Given the description of an element on the screen output the (x, y) to click on. 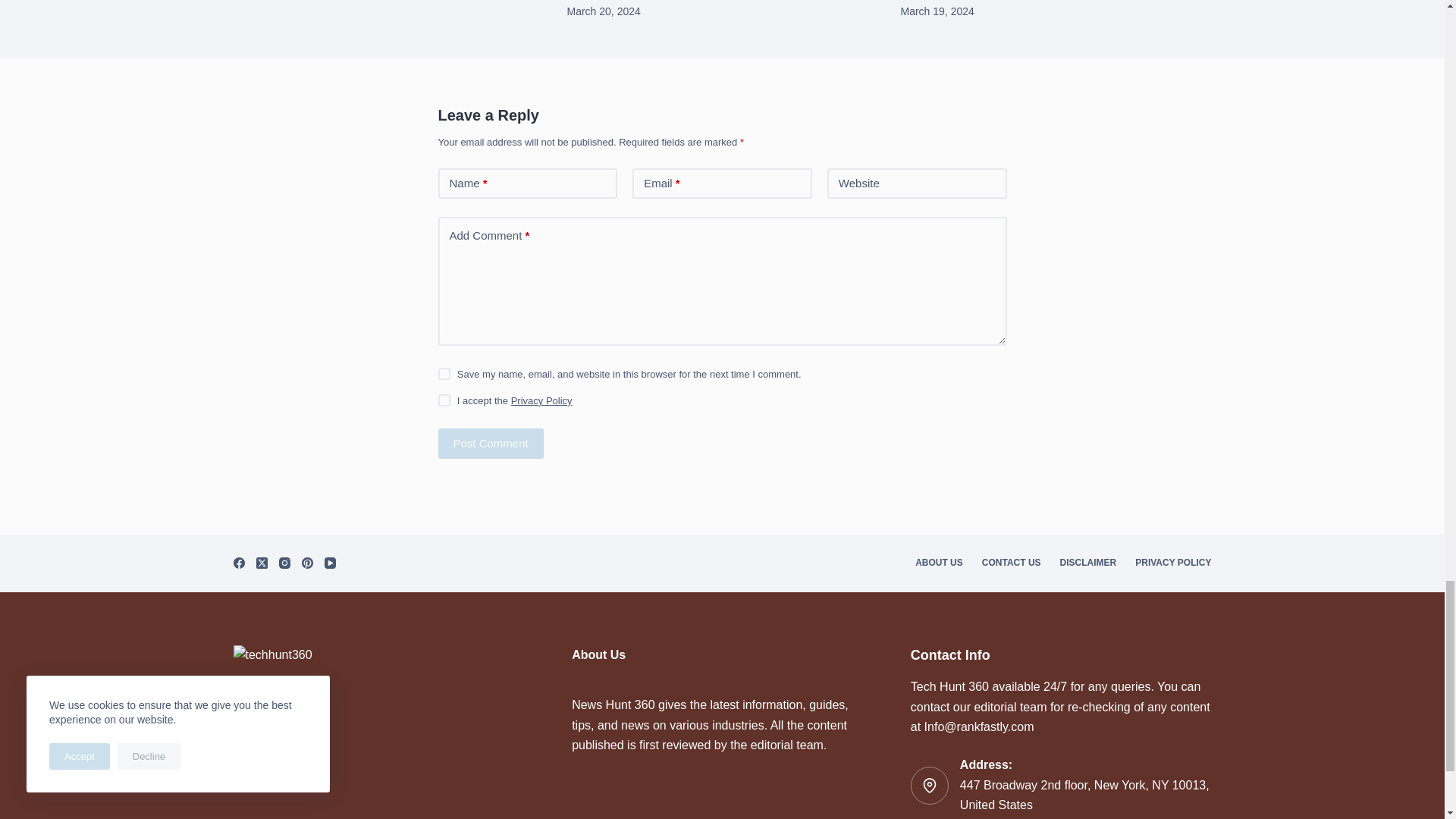
yes (443, 373)
on (443, 399)
